Given the description of an element on the screen output the (x, y) to click on. 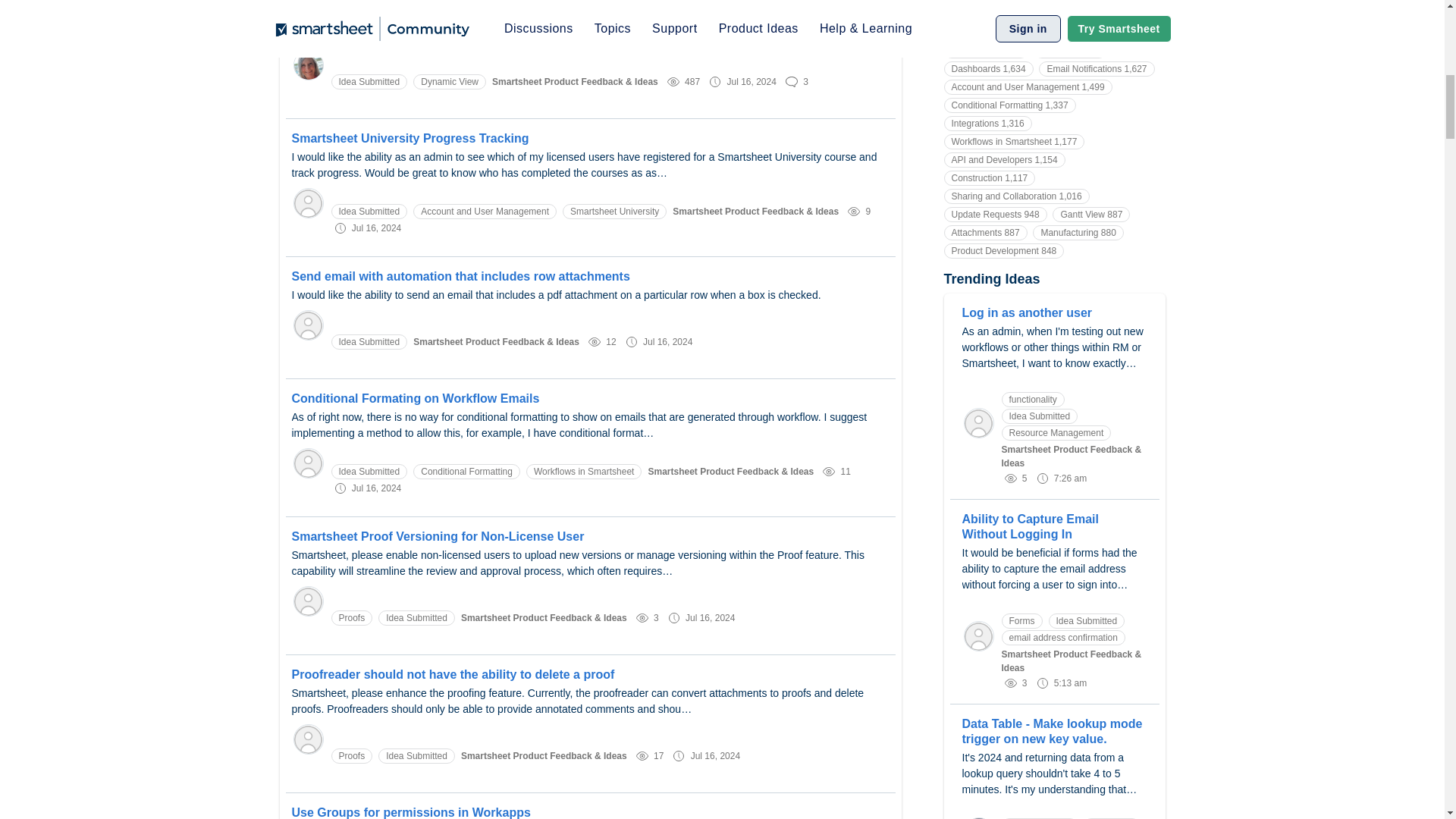
che.rabajante (308, 738)
MattC1989 (308, 203)
Tuesday, July 16, 2024 at 9:24 PM (668, 341)
Tuesday, July 16, 2024 at 11:24 PM (751, 81)
Tuesday, July 16, 2024 at 8:00 AM (714, 756)
adamlogan1 (308, 462)
Tuesday, July 16, 2024 at 9:06 PM (376, 487)
Marlei (308, 64)
BSurgi (308, 325)
Tuesday, July 16, 2024 at 3:51 PM (710, 617)
Tuesday, July 16, 2024 at 10:55 PM (376, 227)
che.rabajante (308, 601)
